Given the description of an element on the screen output the (x, y) to click on. 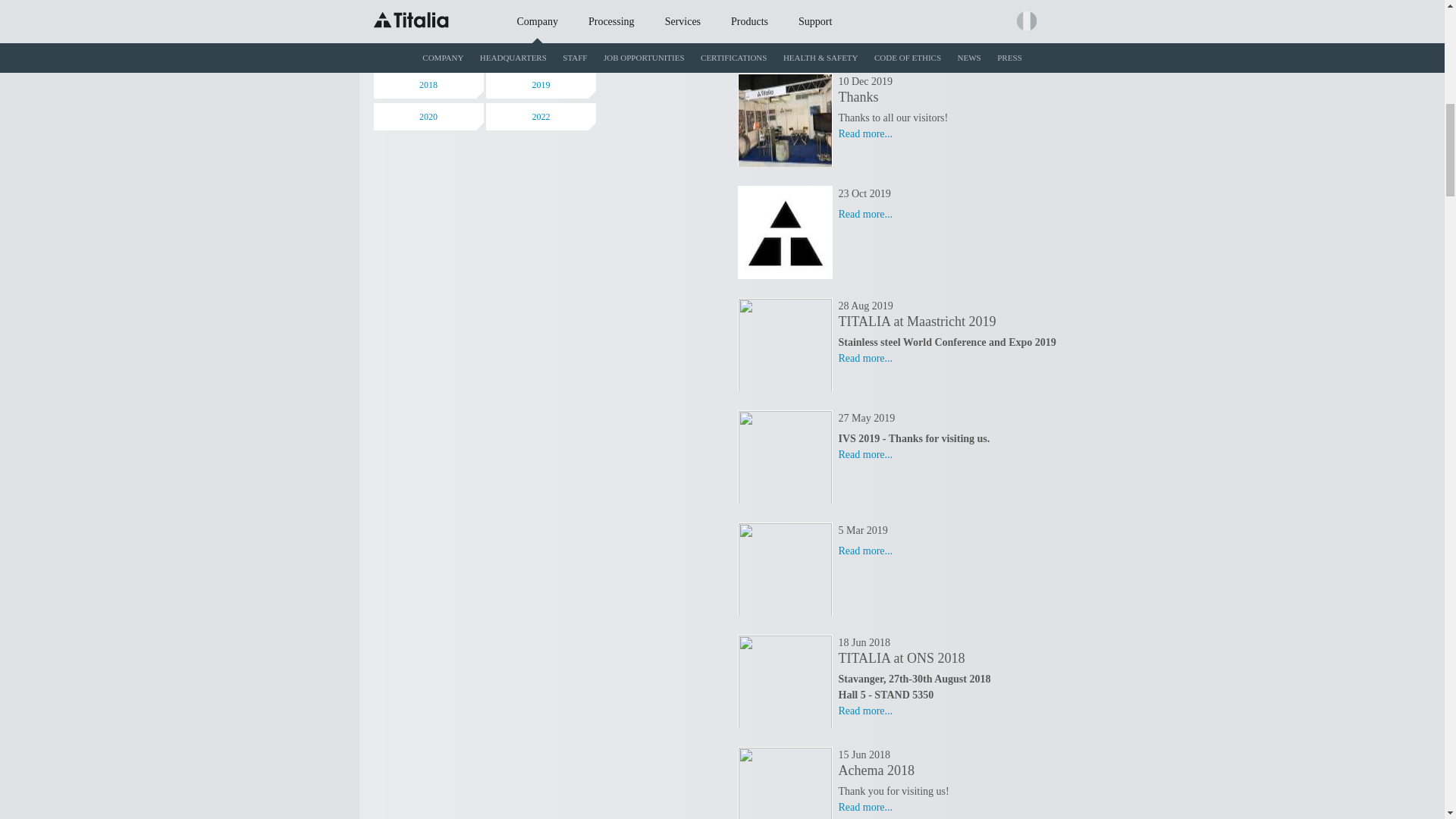
2018 (427, 84)
2016 (427, 52)
2013 (540, 1)
2012 (427, 1)
2014 (427, 21)
2017 (540, 52)
2019 (540, 84)
2015 (540, 21)
